Given the description of an element on the screen output the (x, y) to click on. 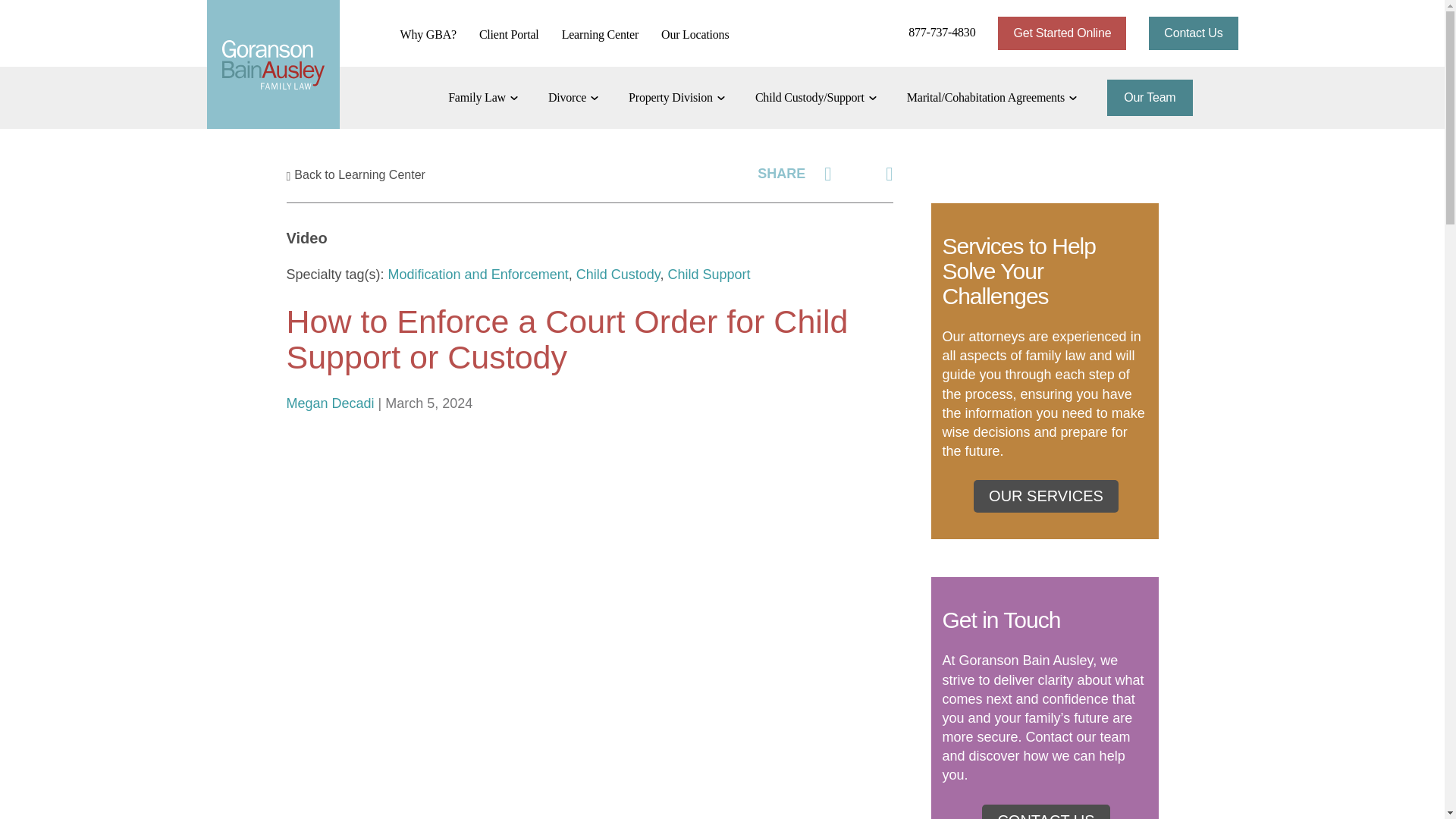
Get Started Online (1061, 32)
Our Locations (701, 33)
Contact Us (1192, 32)
877-737-4830 (922, 33)
Family Law (483, 97)
Client Portal (508, 33)
Learning Center (600, 33)
